Given the description of an element on the screen output the (x, y) to click on. 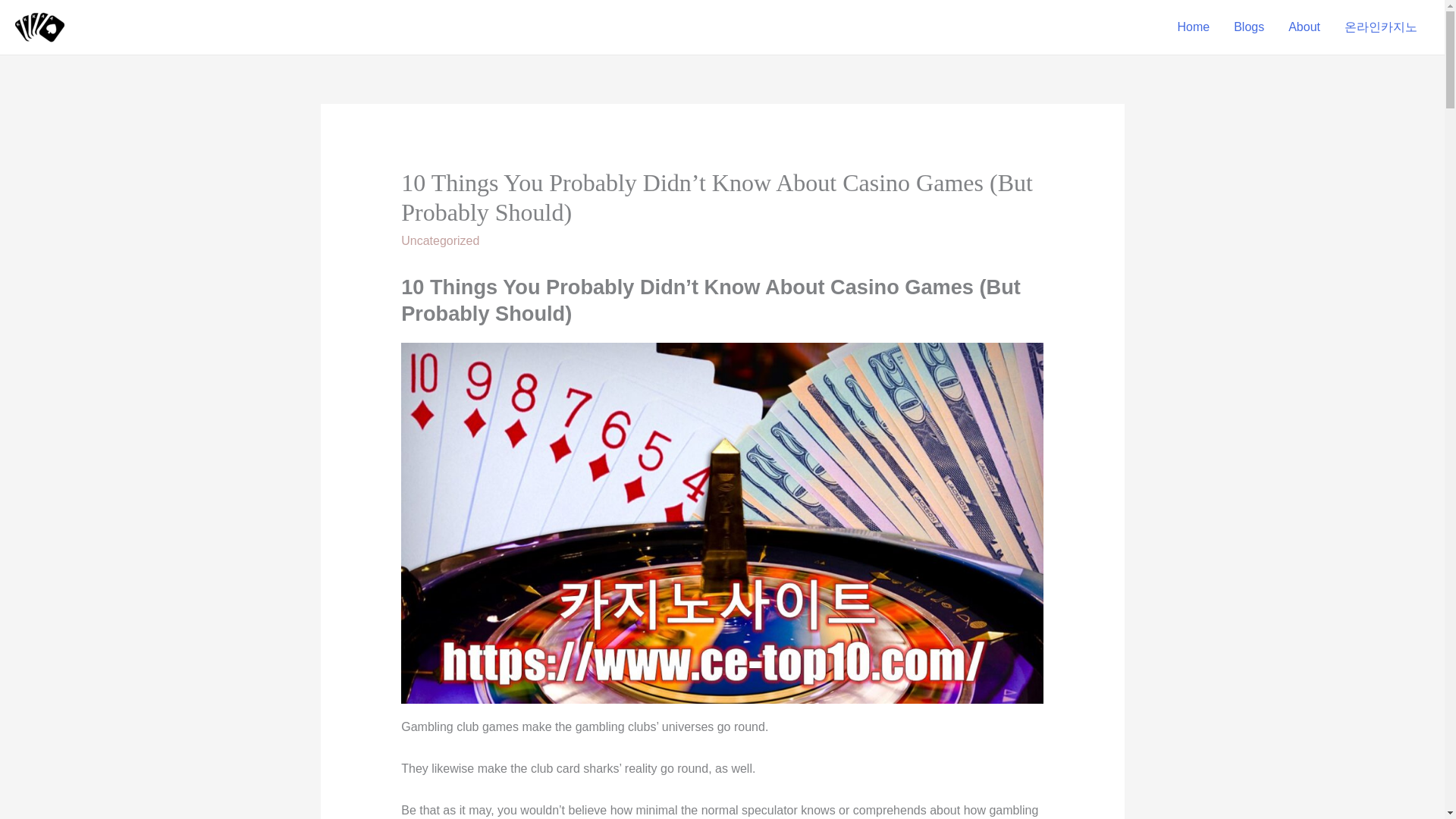
Home (1192, 27)
About (1304, 27)
Blogs (1248, 27)
Uncategorized (440, 240)
